Given the description of an element on the screen output the (x, y) to click on. 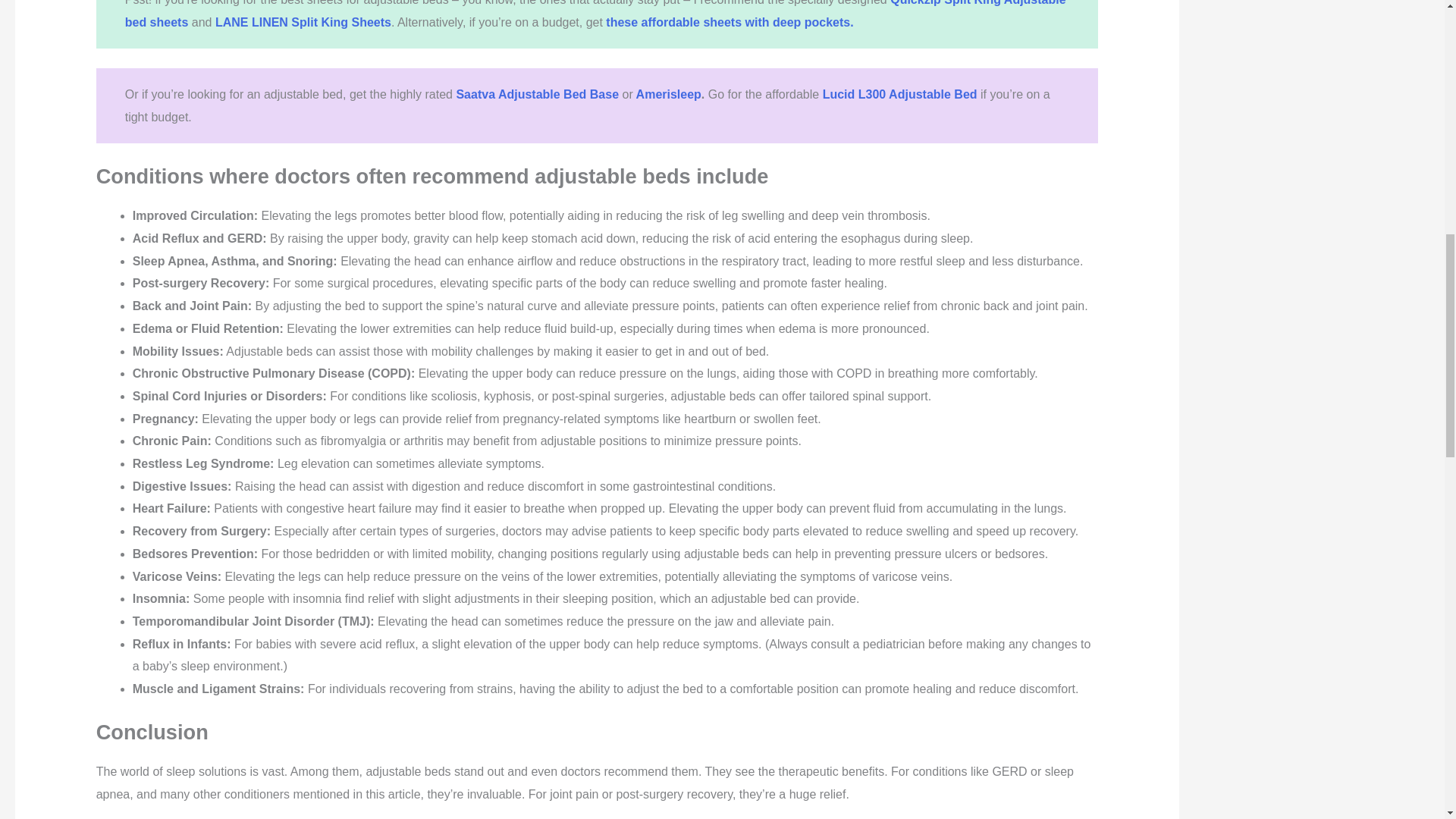
Saatva Adjustable Bed Base (536, 93)
LANE LINEN Split King Sheets (303, 21)
Lucid L300 Adjustable Bed (899, 93)
Quickzip Split King Adjustable bed sheets (595, 14)
Amerisleep (668, 93)
these affordable sheets with deep pockets. (729, 21)
